Given the description of an element on the screen output the (x, y) to click on. 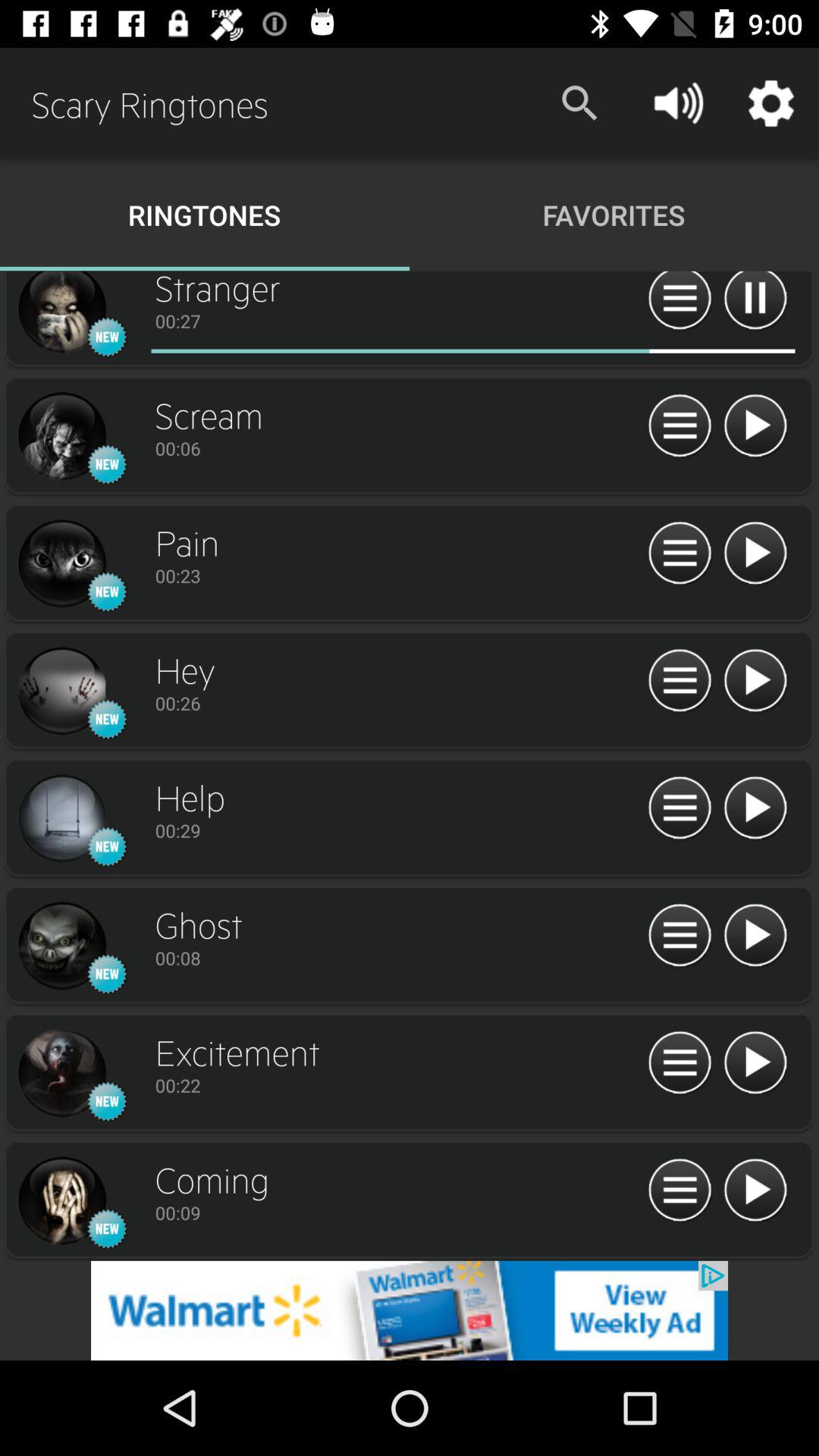
open drop down menu for coming (679, 1190)
